Given the description of an element on the screen output the (x, y) to click on. 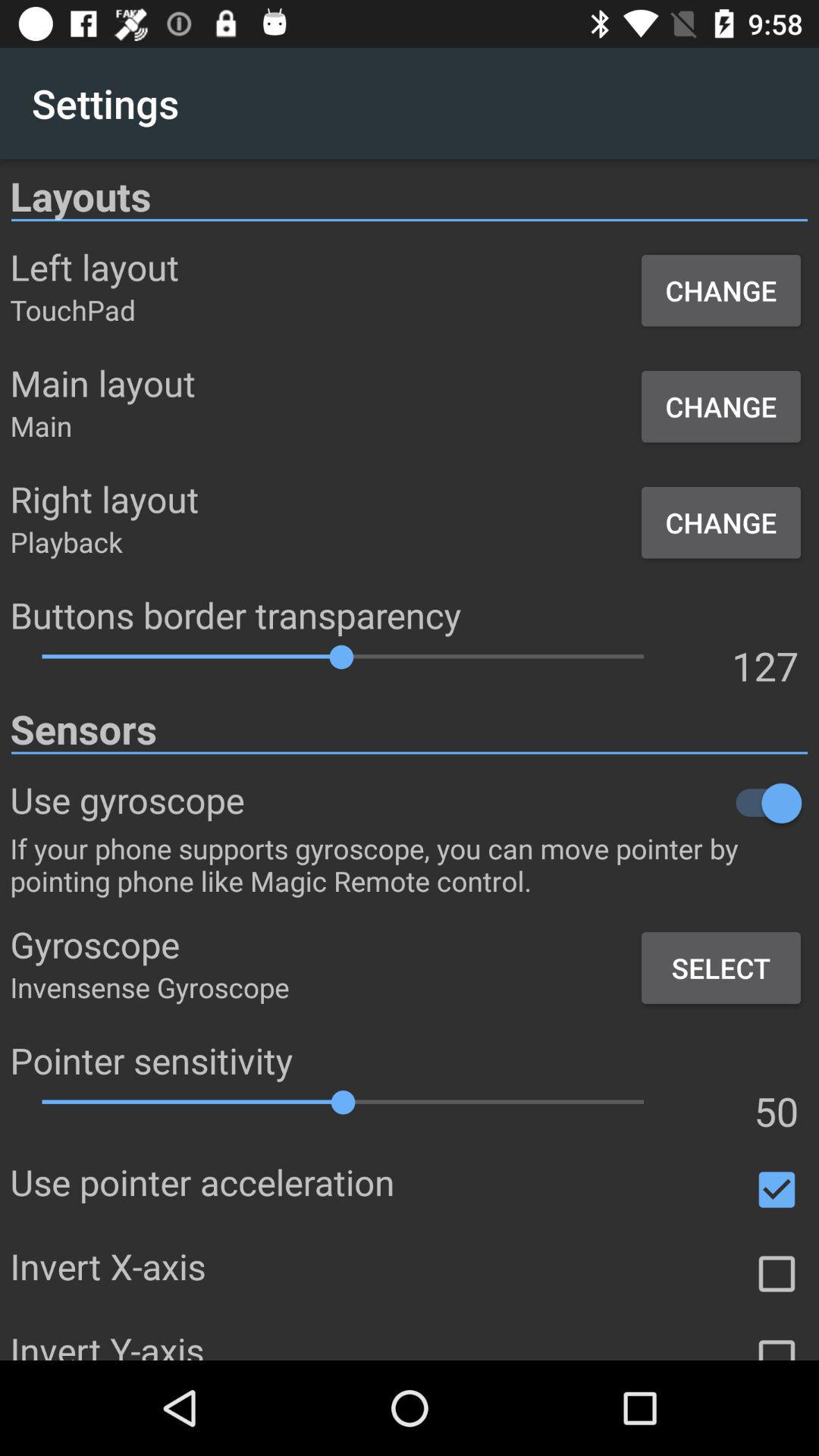
launch item to the right of use gyroscope icon (526, 802)
